Given the description of an element on the screen output the (x, y) to click on. 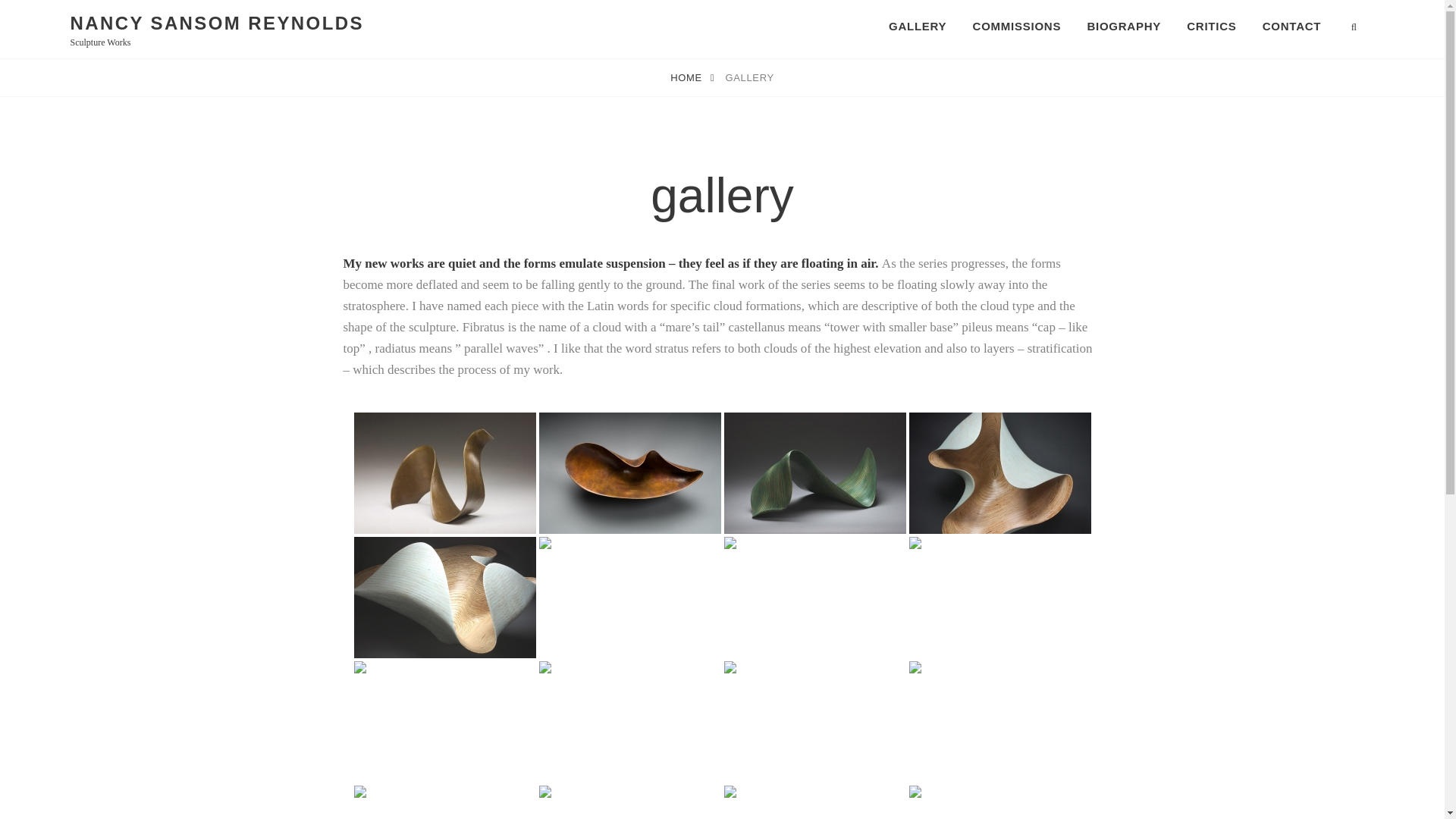
GALLERY (917, 25)
COMMISSIONS (1016, 25)
CRITICS (1210, 25)
SEARCH (1355, 26)
BIOGRAPHY (1123, 25)
NANCY SANSOM REYNOLDS (215, 23)
